Given the description of an element on the screen output the (x, y) to click on. 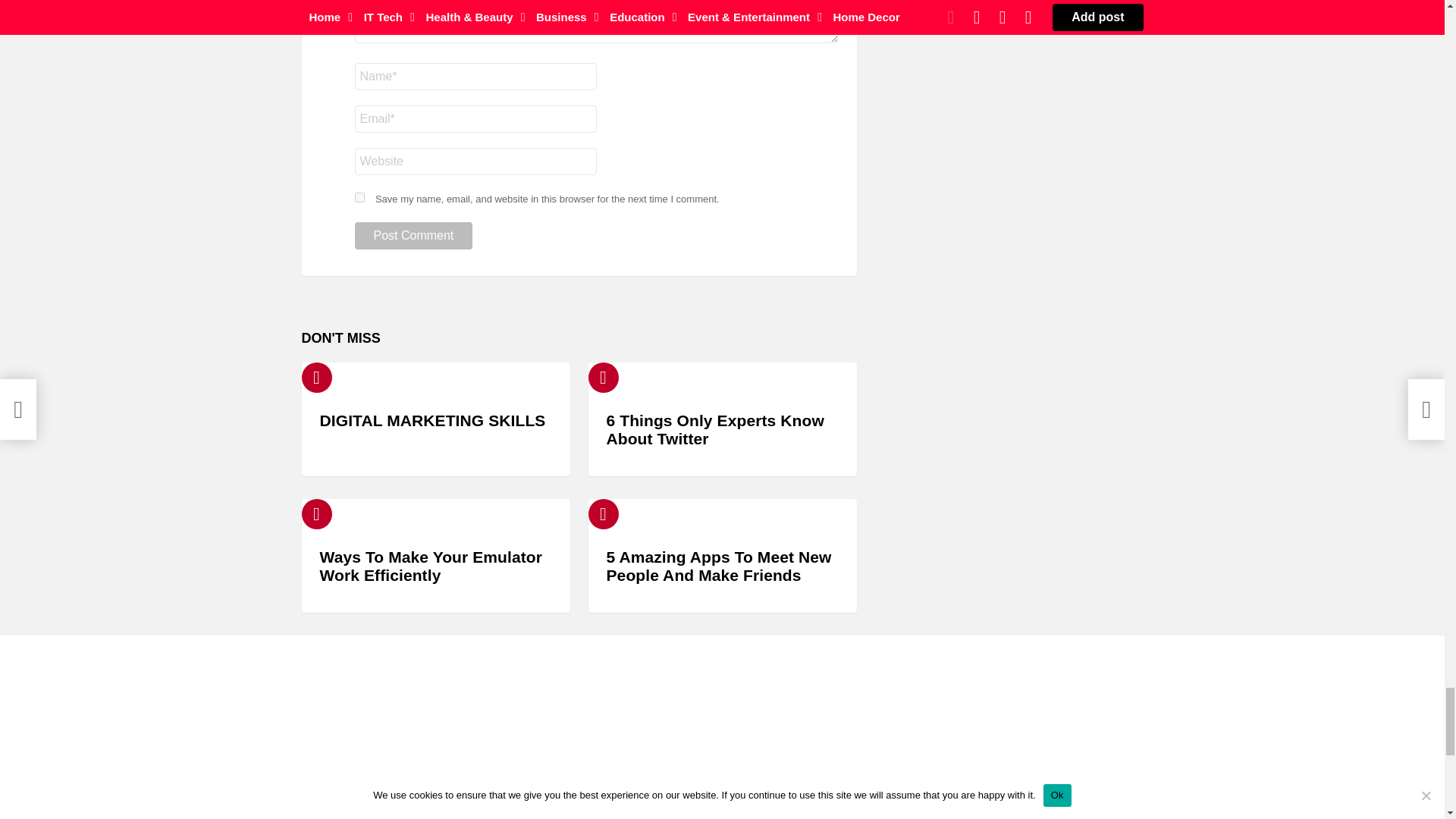
Post Comment (414, 235)
yes (360, 197)
